Given the description of an element on the screen output the (x, y) to click on. 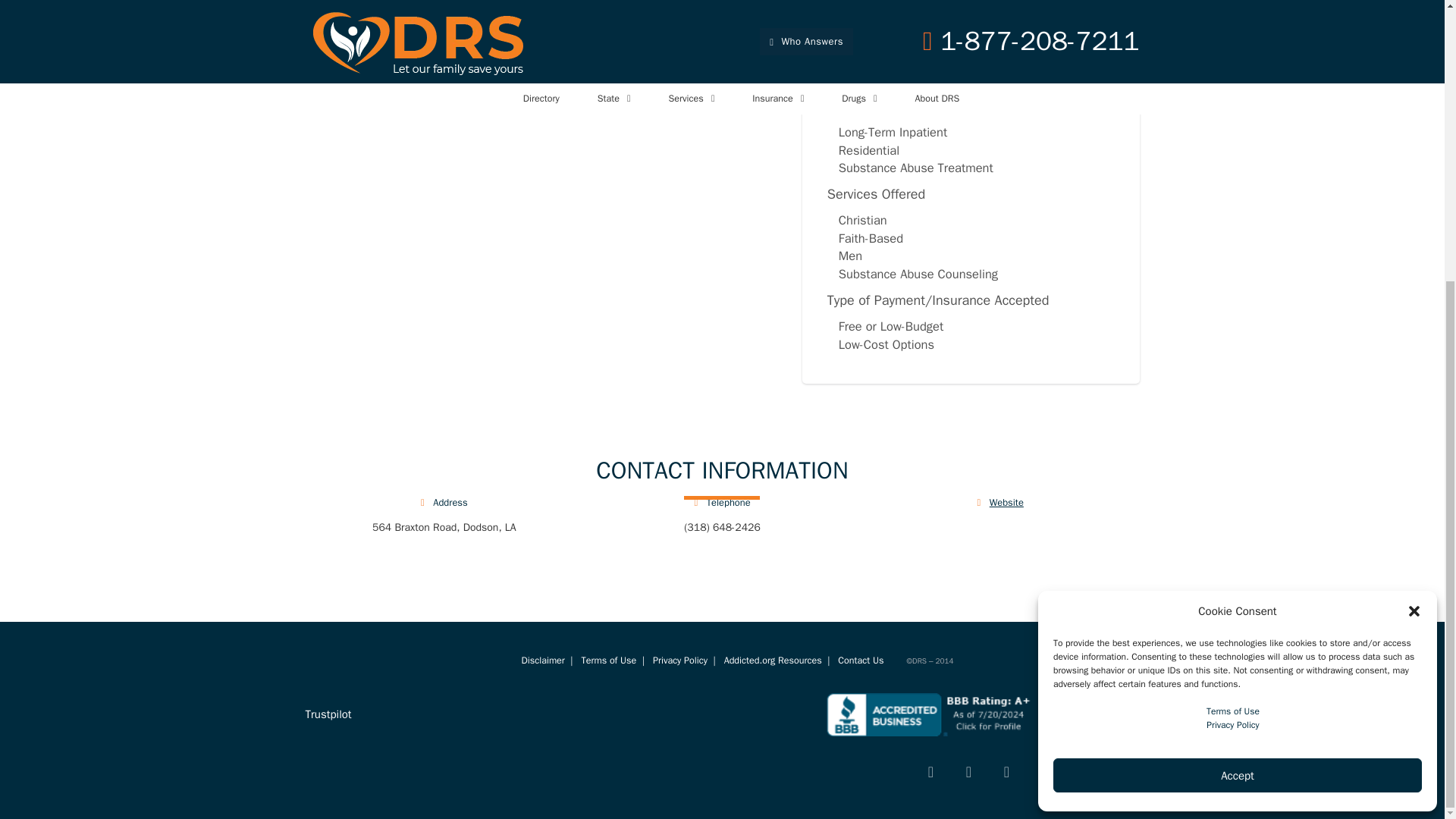
Privacy Policy (1233, 305)
Terms of Use (1233, 291)
Accept (1237, 356)
